Given the description of an element on the screen output the (x, y) to click on. 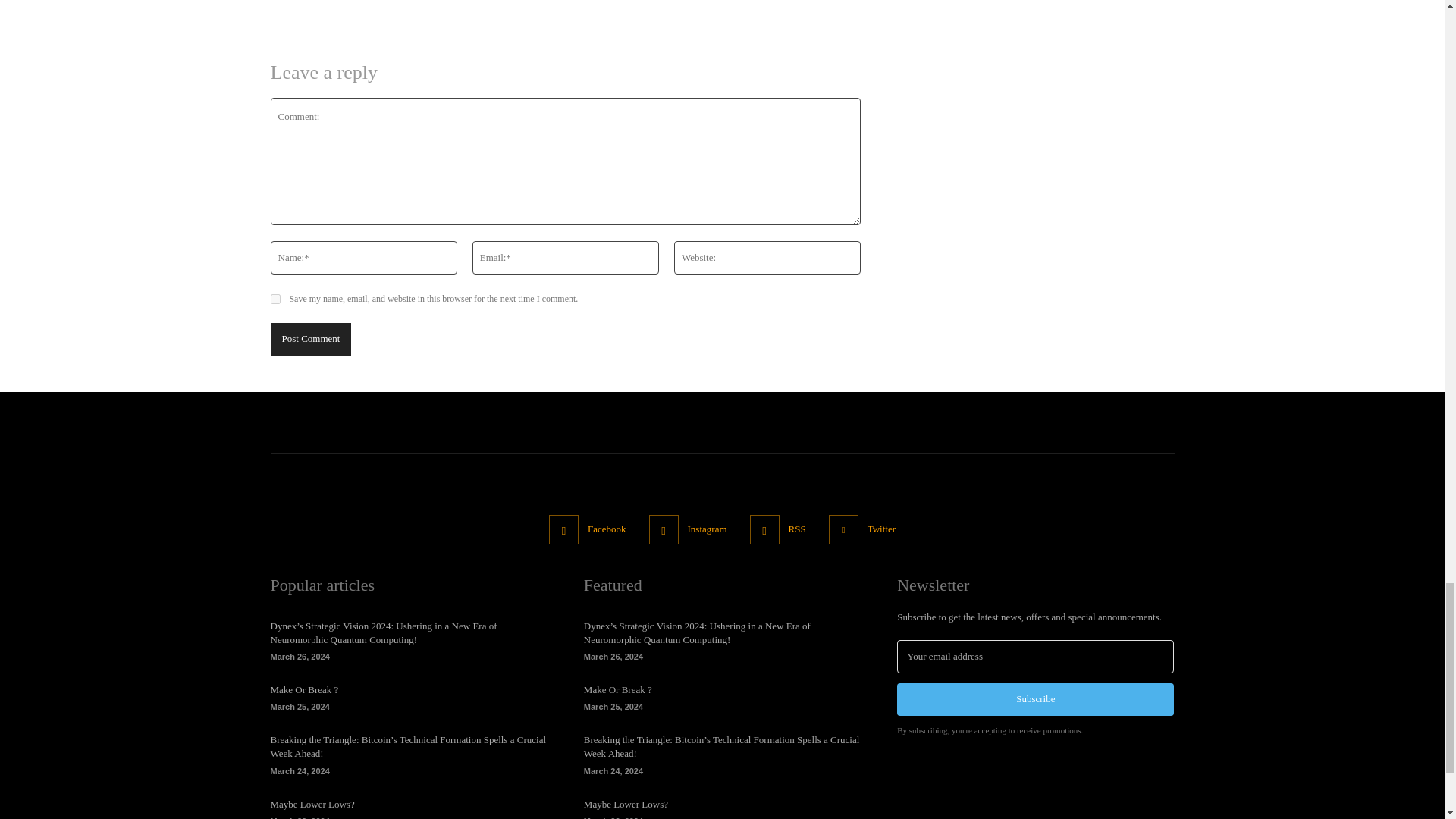
Post Comment (309, 338)
yes (274, 298)
